Given the description of an element on the screen output the (x, y) to click on. 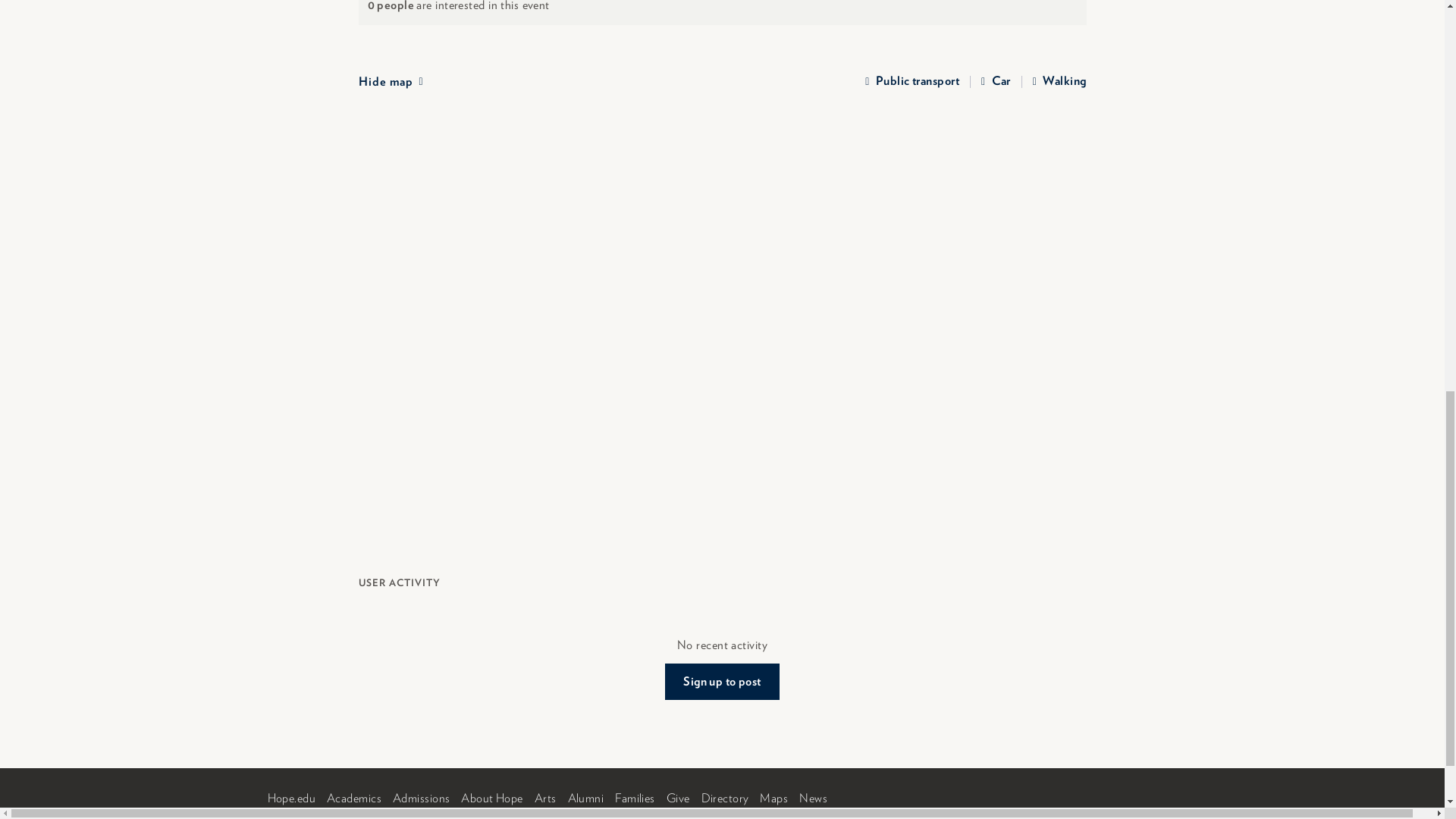
Car (995, 81)
Sign up to post (721, 681)
Admissions (421, 798)
Academics (353, 798)
Hope.edu (290, 798)
Walking (1059, 81)
Public transport (911, 81)
